Given the description of an element on the screen output the (x, y) to click on. 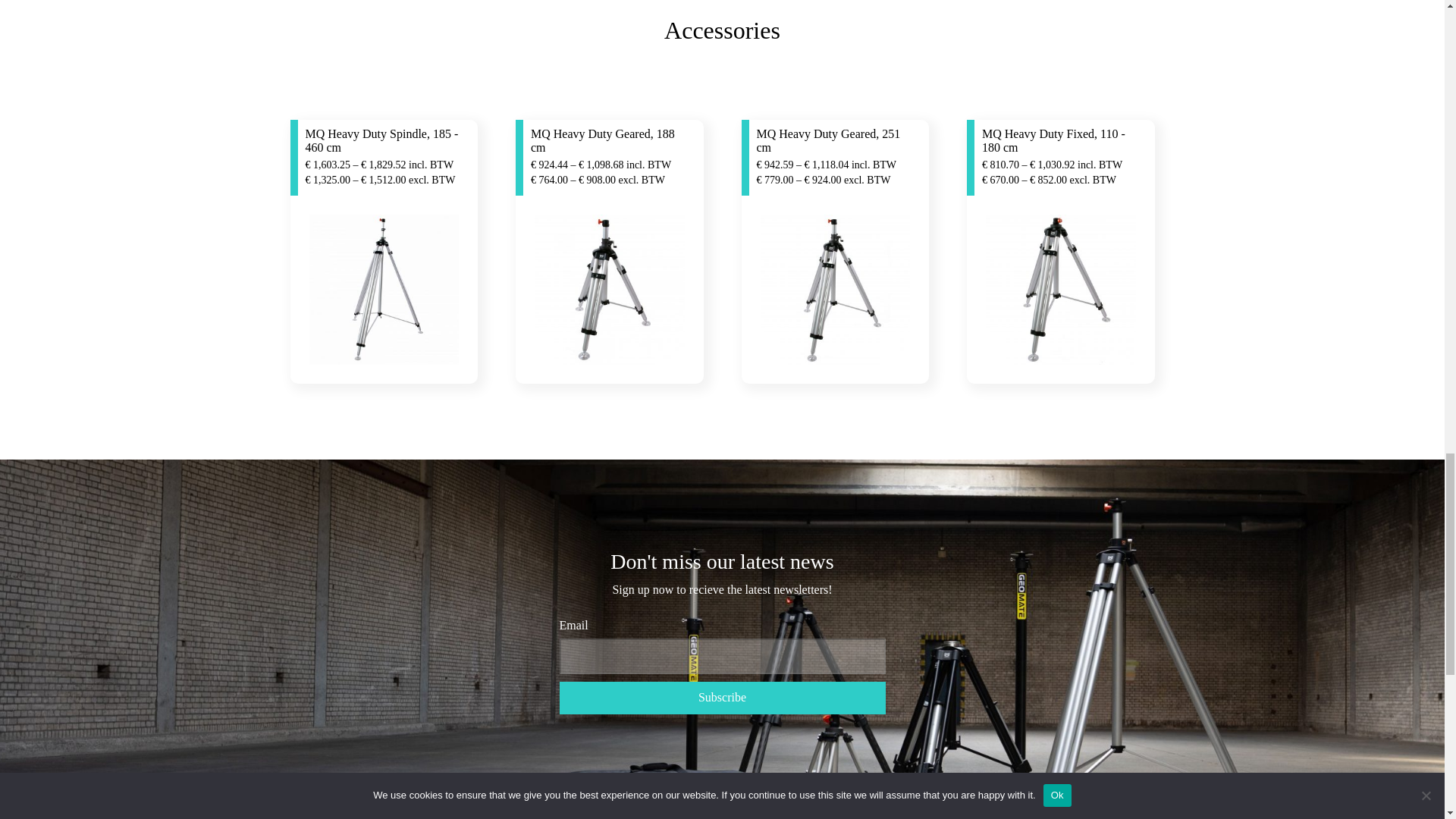
Subscribe (722, 697)
